Given the description of an element on the screen output the (x, y) to click on. 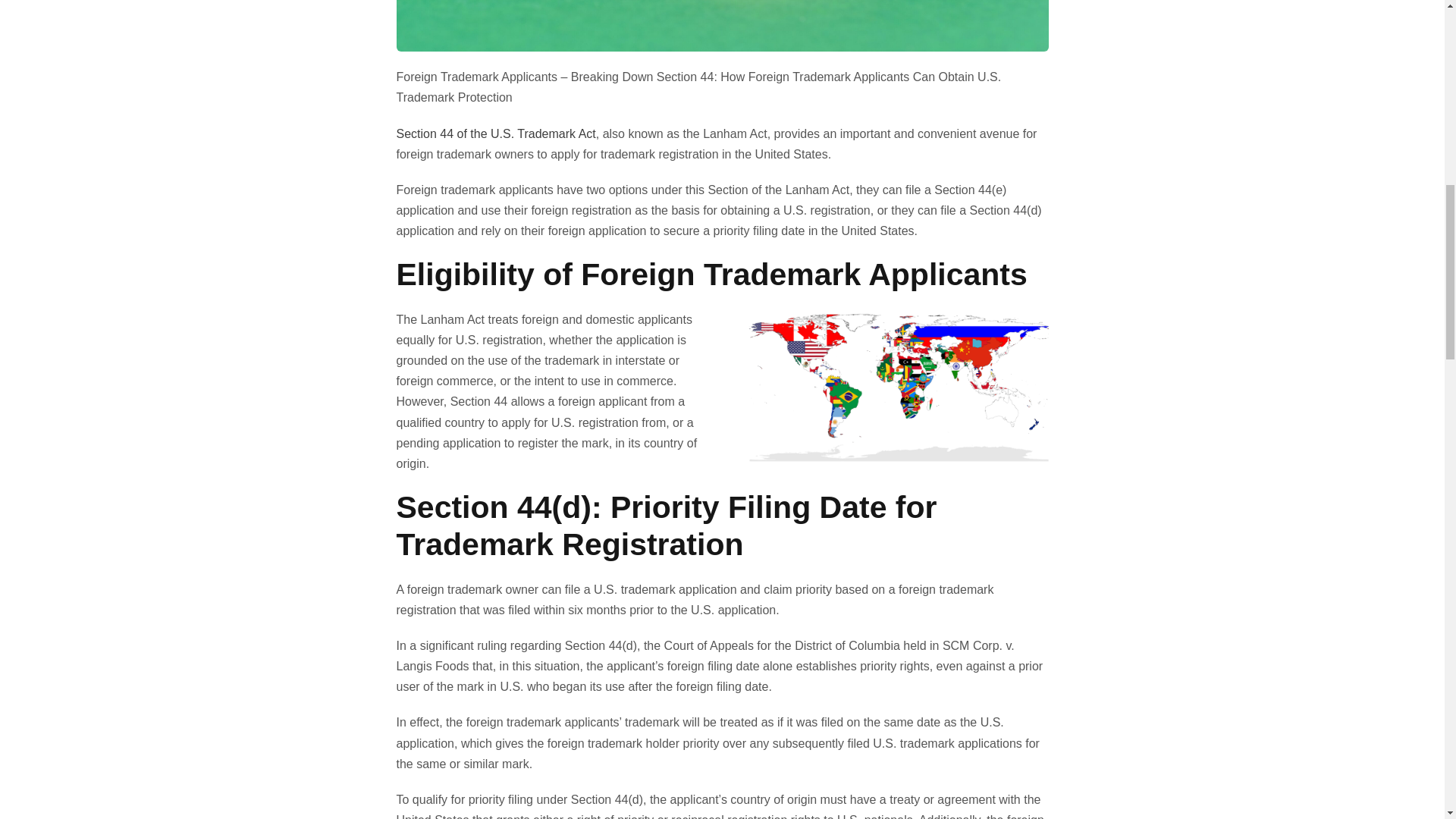
Technology,And,Business,Concept.,On,The,Green,Surface,Is,A (722, 25)
